Given the description of an element on the screen output the (x, y) to click on. 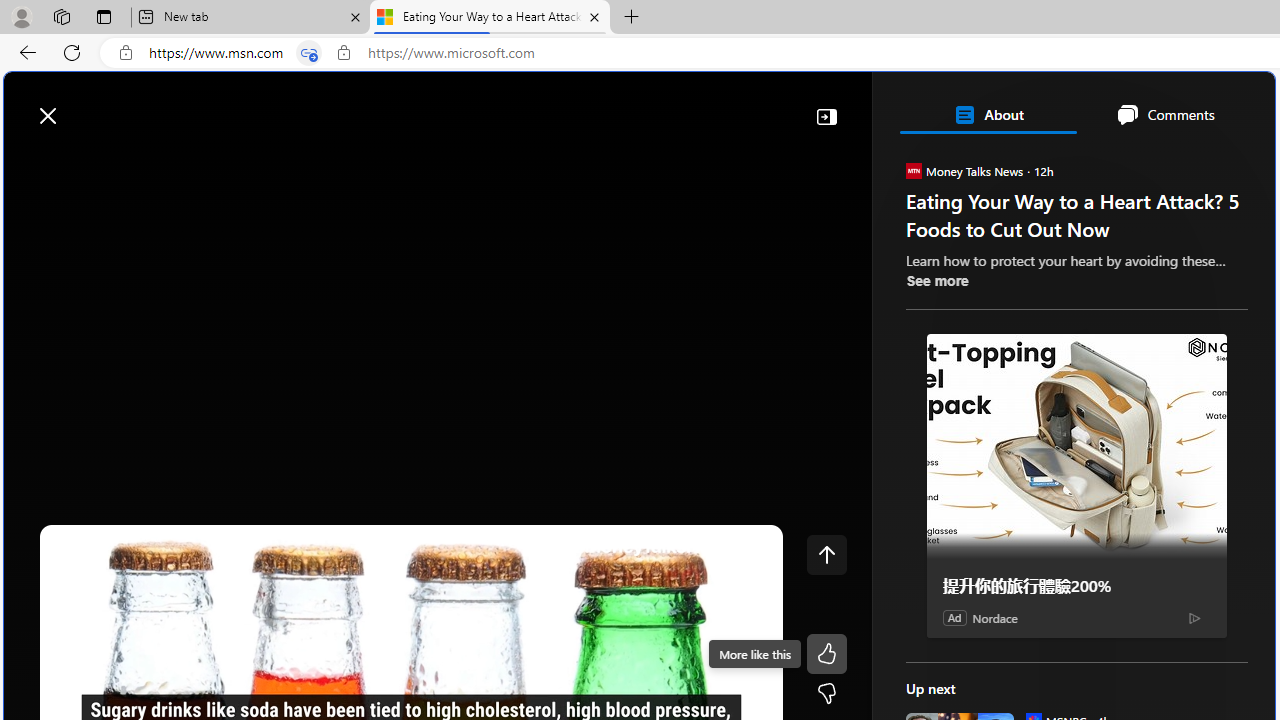
Open navigation menu (29, 162)
Skip to footer (82, 105)
About (987, 114)
Personalized for You (1084, 386)
